Given the description of an element on the screen output the (x, y) to click on. 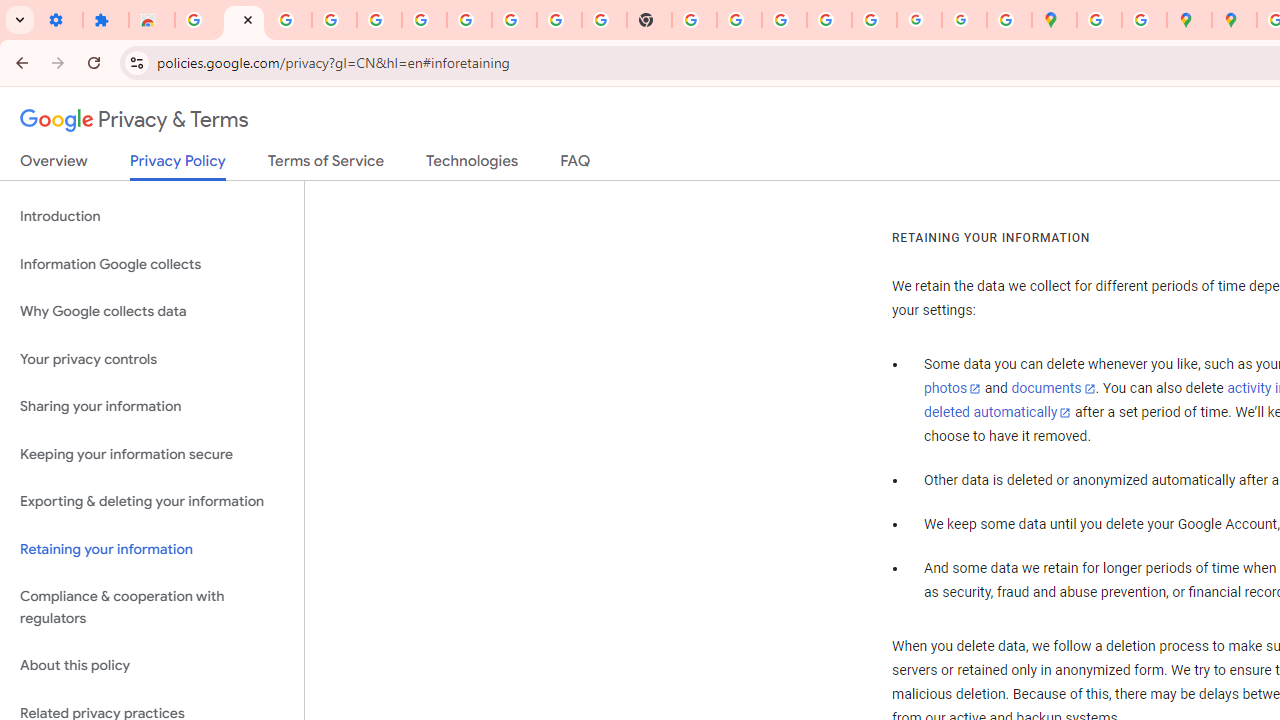
Compliance & cooperation with regulators (152, 607)
photos (952, 389)
Safety in Our Products - Google Safety Center (1144, 20)
Retaining your information (152, 548)
Google Account (514, 20)
Learn how to find your photos - Google Photos Help (334, 20)
Reviews: Helix Fruit Jump Arcade Game (152, 20)
Sign in - Google Accounts (423, 20)
